Given the description of an element on the screen output the (x, y) to click on. 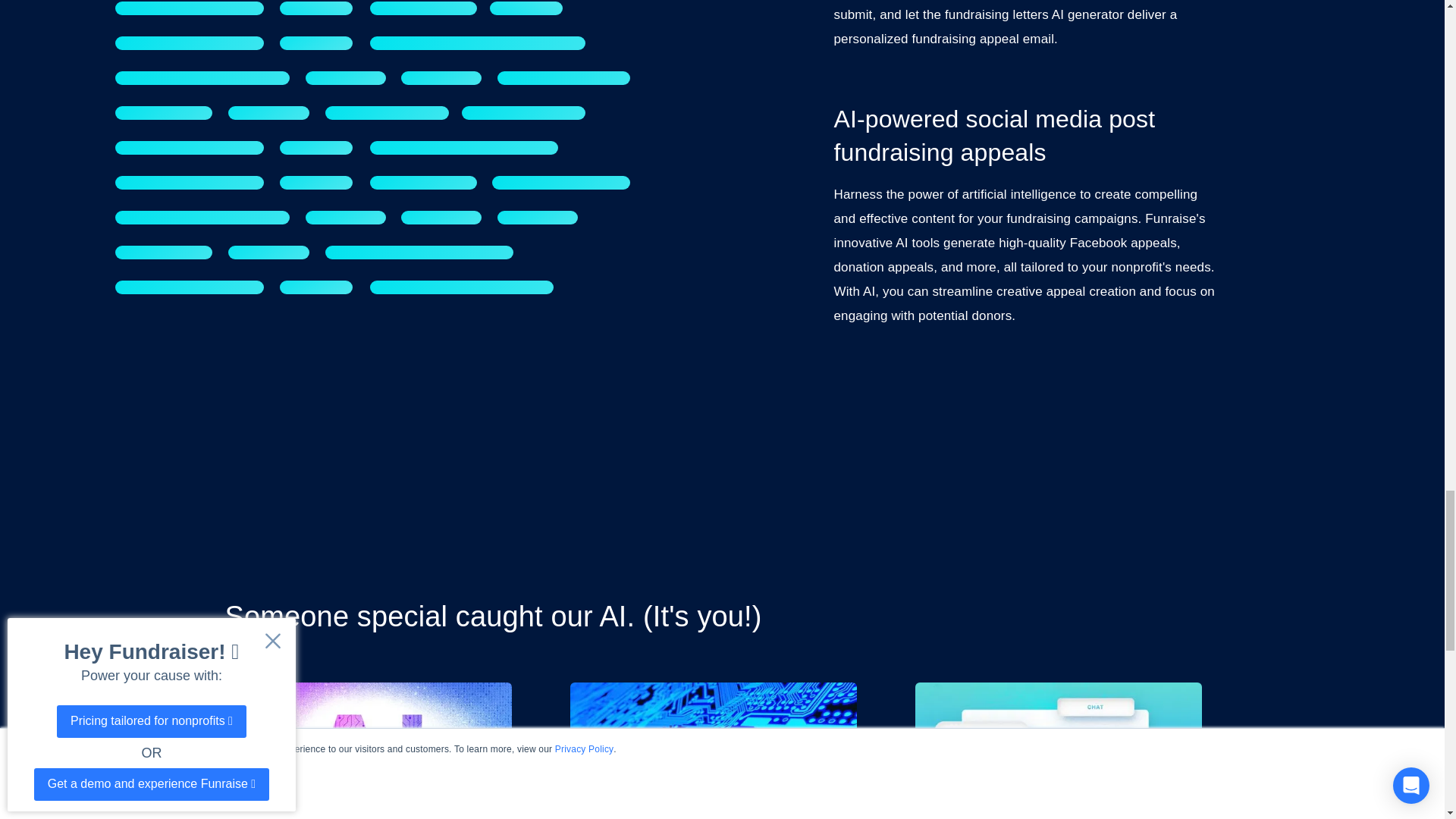
What Is Machine Learning? The Complete Nonprofit Guide (722, 750)
